Given the description of an element on the screen output the (x, y) to click on. 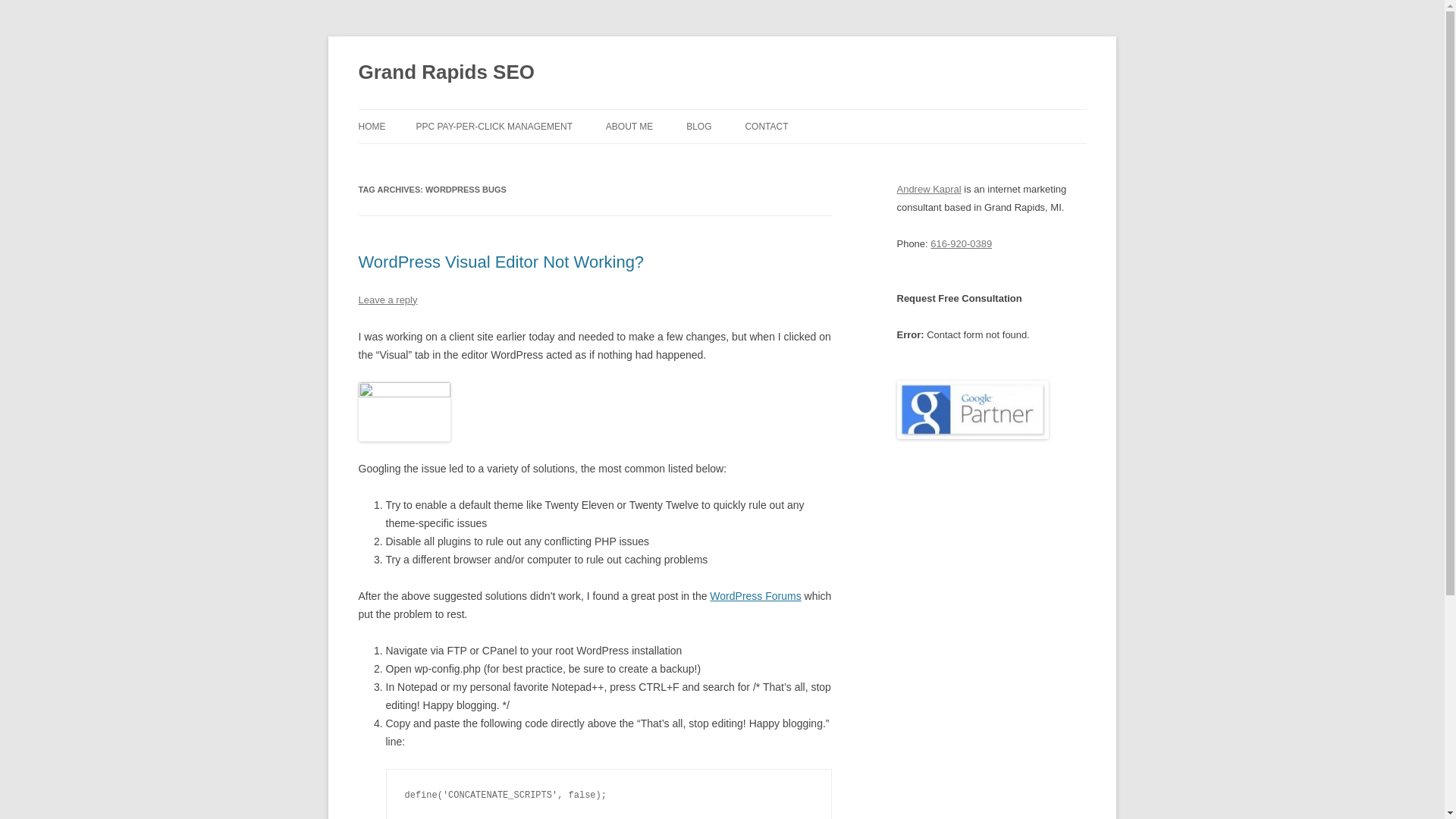
Leave a reply (387, 299)
Grand Rapids SEO (446, 72)
616-920-0389 (960, 243)
WordPress Forums (755, 595)
CONTACT (765, 126)
PPC PAY-PER-CLICK MANAGEMENT (493, 126)
WordPress Visual Editor Not Working? (500, 261)
ABOUT ME (628, 126)
Andrew Kapral (928, 188)
